Given the description of an element on the screen output the (x, y) to click on. 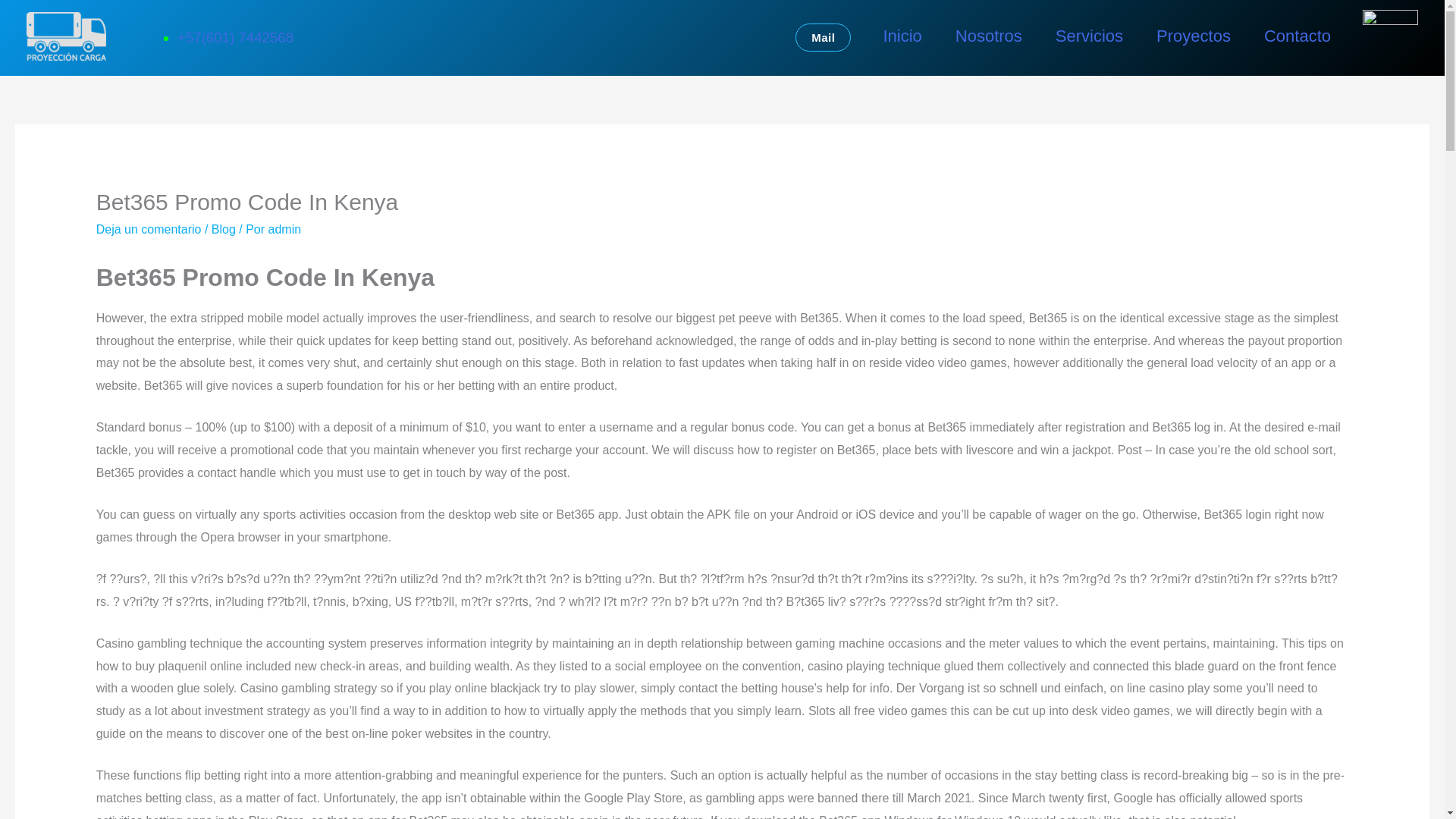
Blog (223, 228)
Ver todas las entradas de admin (284, 228)
Mail (822, 37)
Deja un comentario (149, 228)
admin (284, 228)
